Given the description of an element on the screen output the (x, y) to click on. 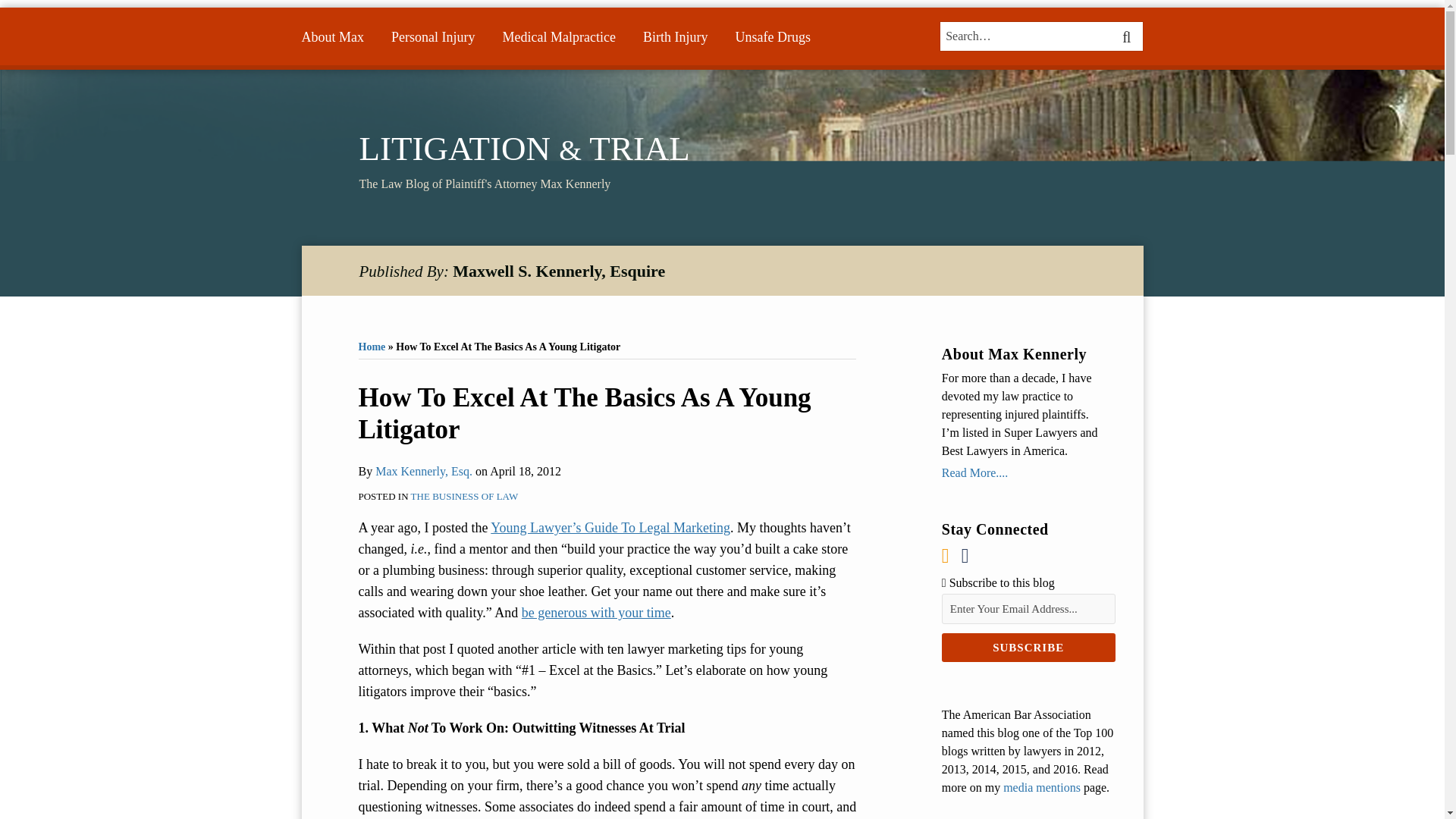
Max Kennerly, Esq. (423, 471)
Read More.... (1028, 473)
be generous with your time (596, 612)
Medical Malpractice (558, 36)
About Max (333, 36)
Unsafe Drugs (772, 36)
SEARCH (1128, 36)
Subscribe (1028, 647)
Home (371, 346)
THE BUSINESS OF LAW (464, 496)
Personal Injury (432, 36)
Maxwell S. Kennerly, Esquire (558, 270)
Birth Injury (675, 36)
Philadelphia Lawyer, Attorney Max Kennerly (333, 36)
